Given the description of an element on the screen output the (x, y) to click on. 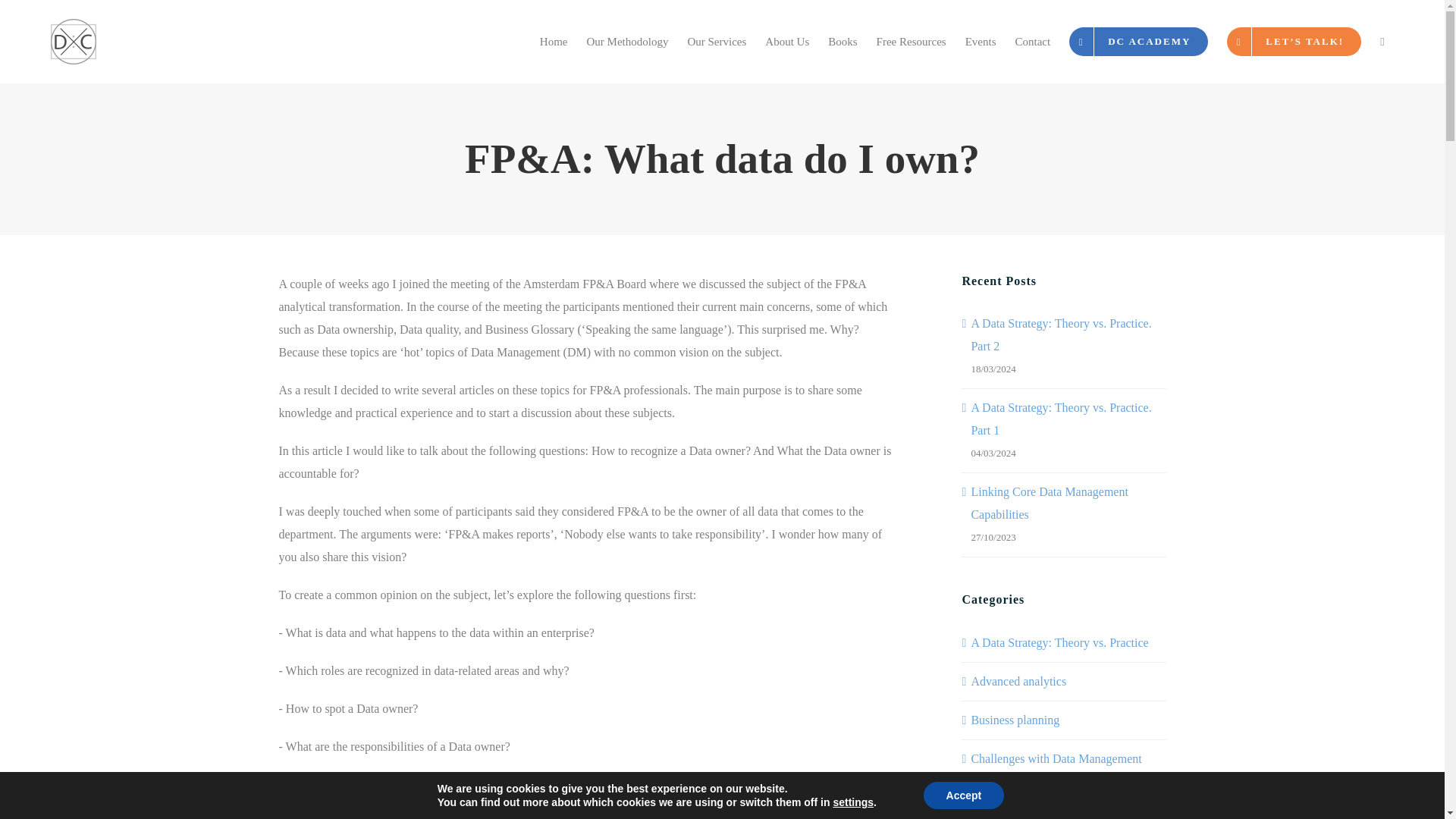
Our Services (716, 41)
DC ACADEMY (1138, 41)
Free Resources (910, 41)
About Us (786, 41)
Our Methodology (627, 41)
